Given the description of an element on the screen output the (x, y) to click on. 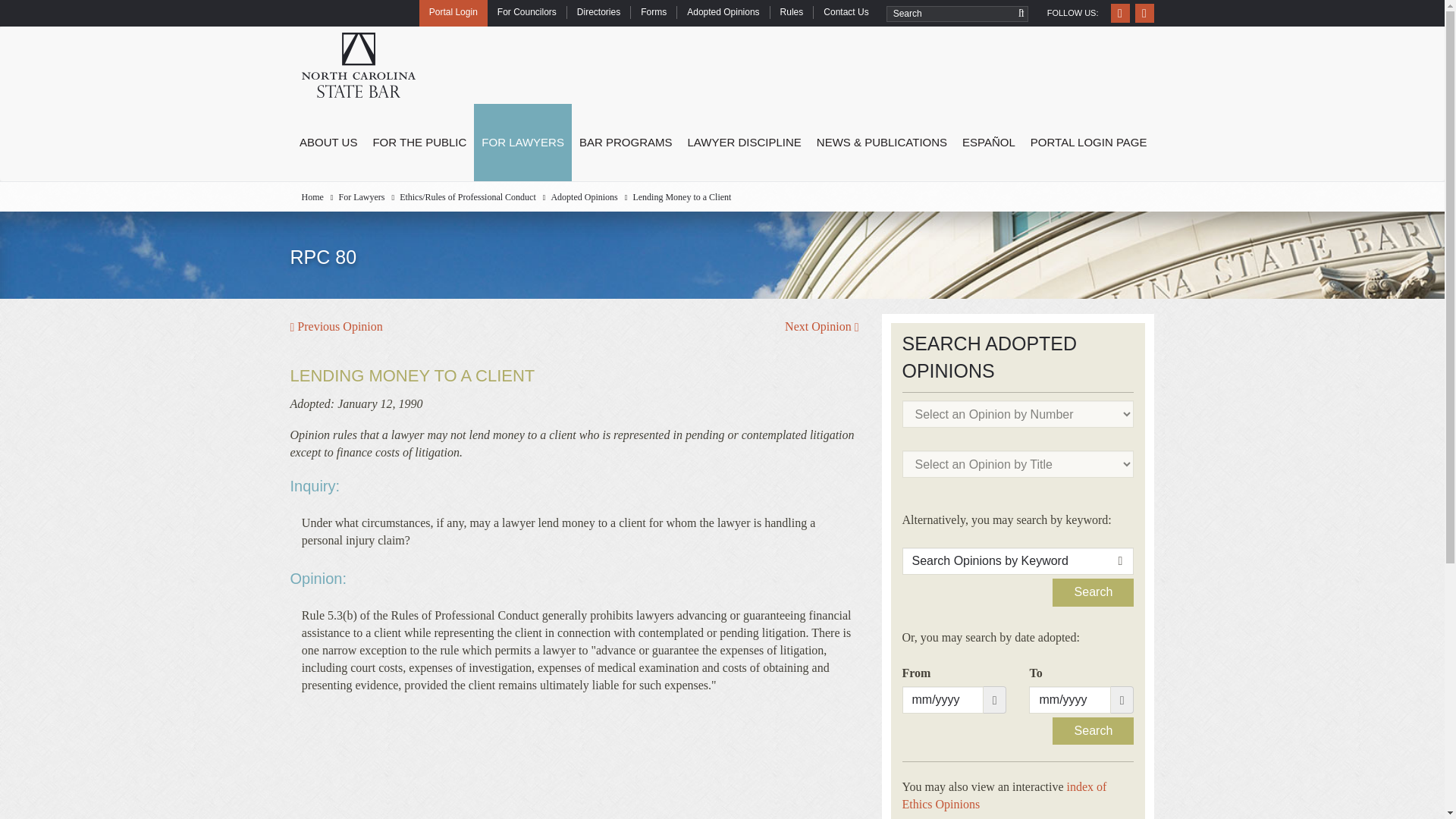
FOR THE PUBLIC (419, 142)
Adopted Opinions (722, 11)
ABOUT US (328, 142)
For Councilors (526, 11)
Forms (653, 11)
Twitter (1143, 13)
Navigate to For Lawyers (360, 196)
Navigate to Adopted Opinions (583, 196)
Navigate to Home (312, 196)
Rules (791, 11)
